Given the description of an element on the screen output the (x, y) to click on. 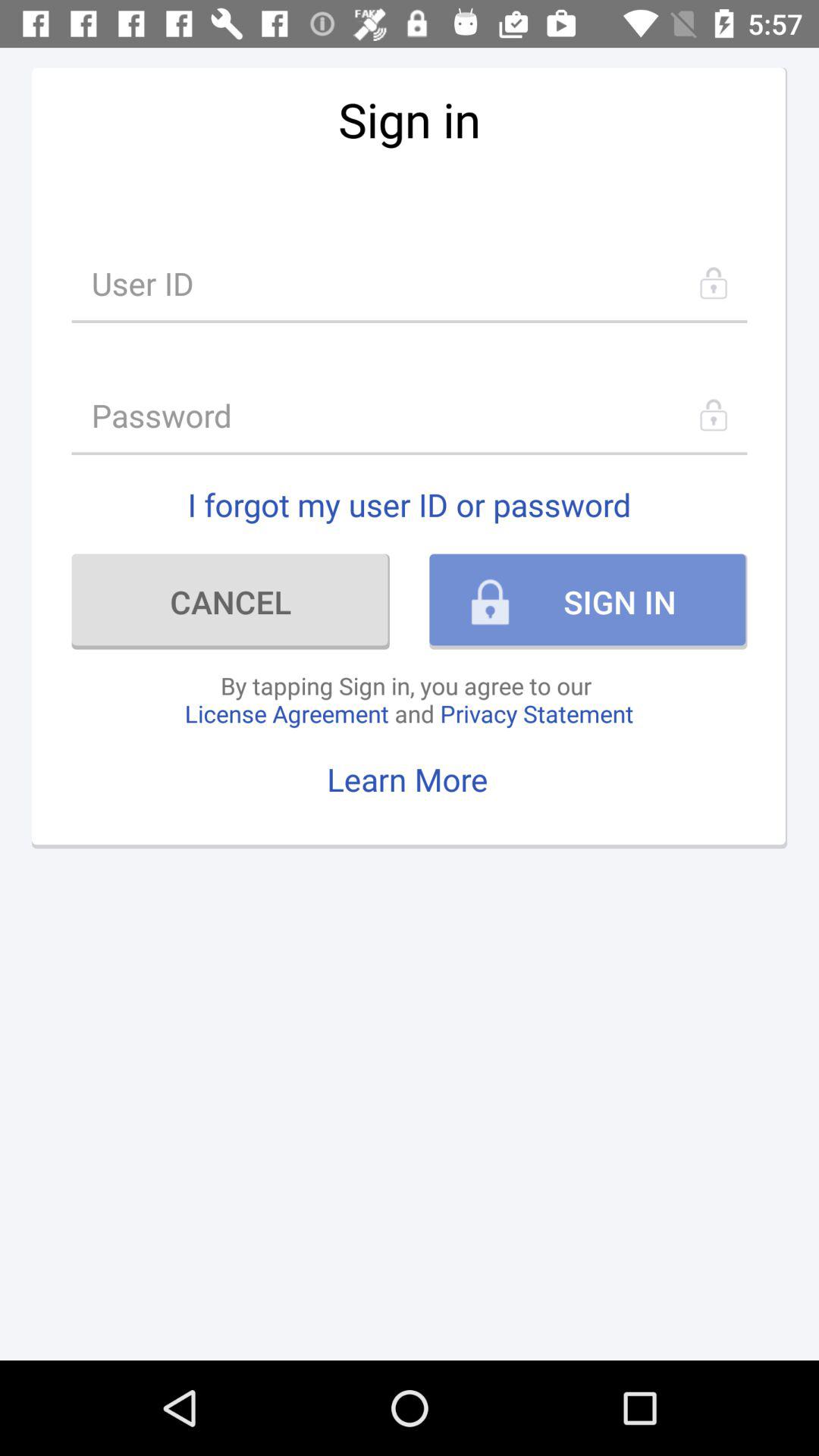
launch item below sign in item (409, 283)
